Given the description of an element on the screen output the (x, y) to click on. 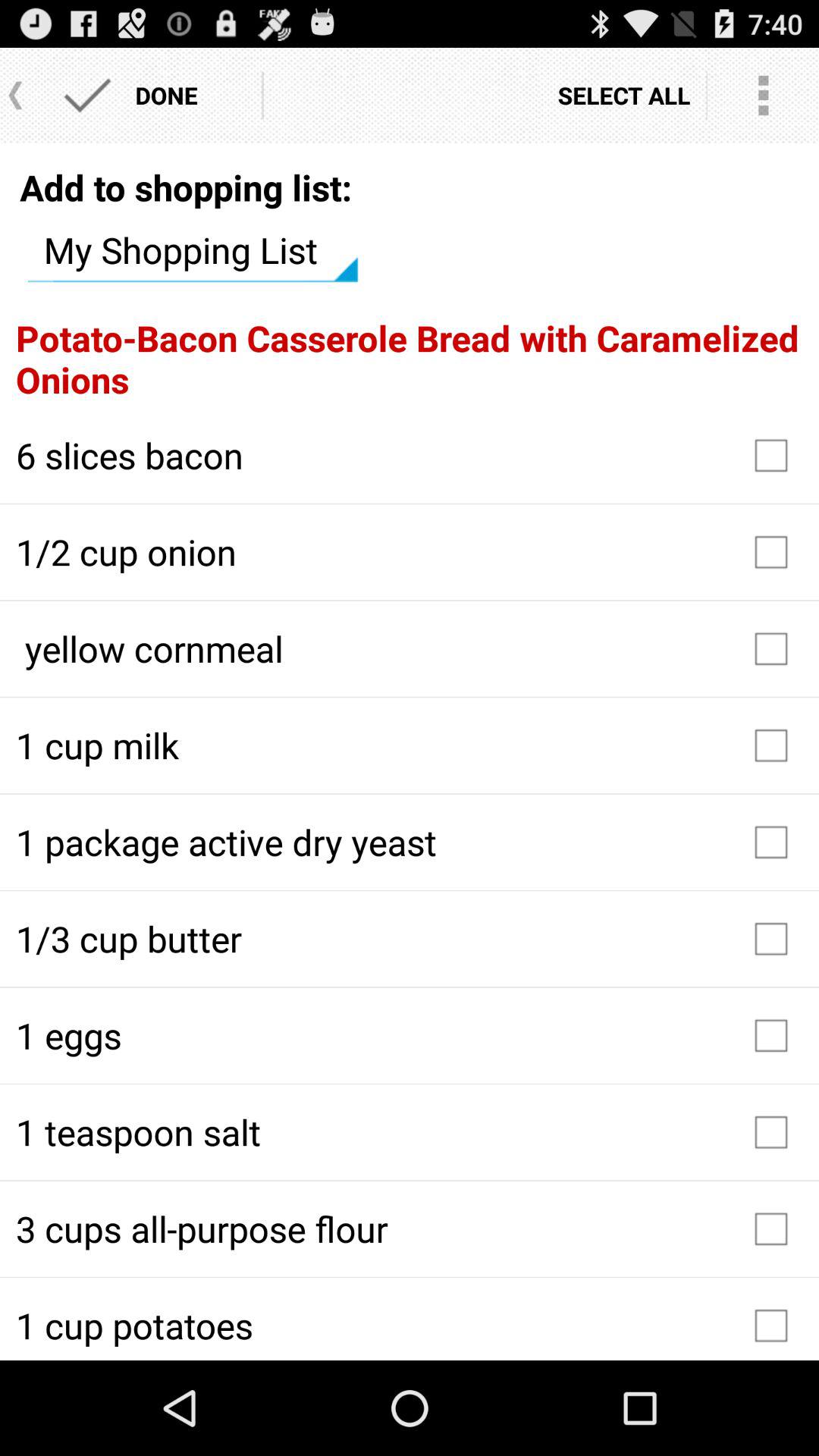
turn on the 6 slices bacon icon (409, 455)
